Given the description of an element on the screen output the (x, y) to click on. 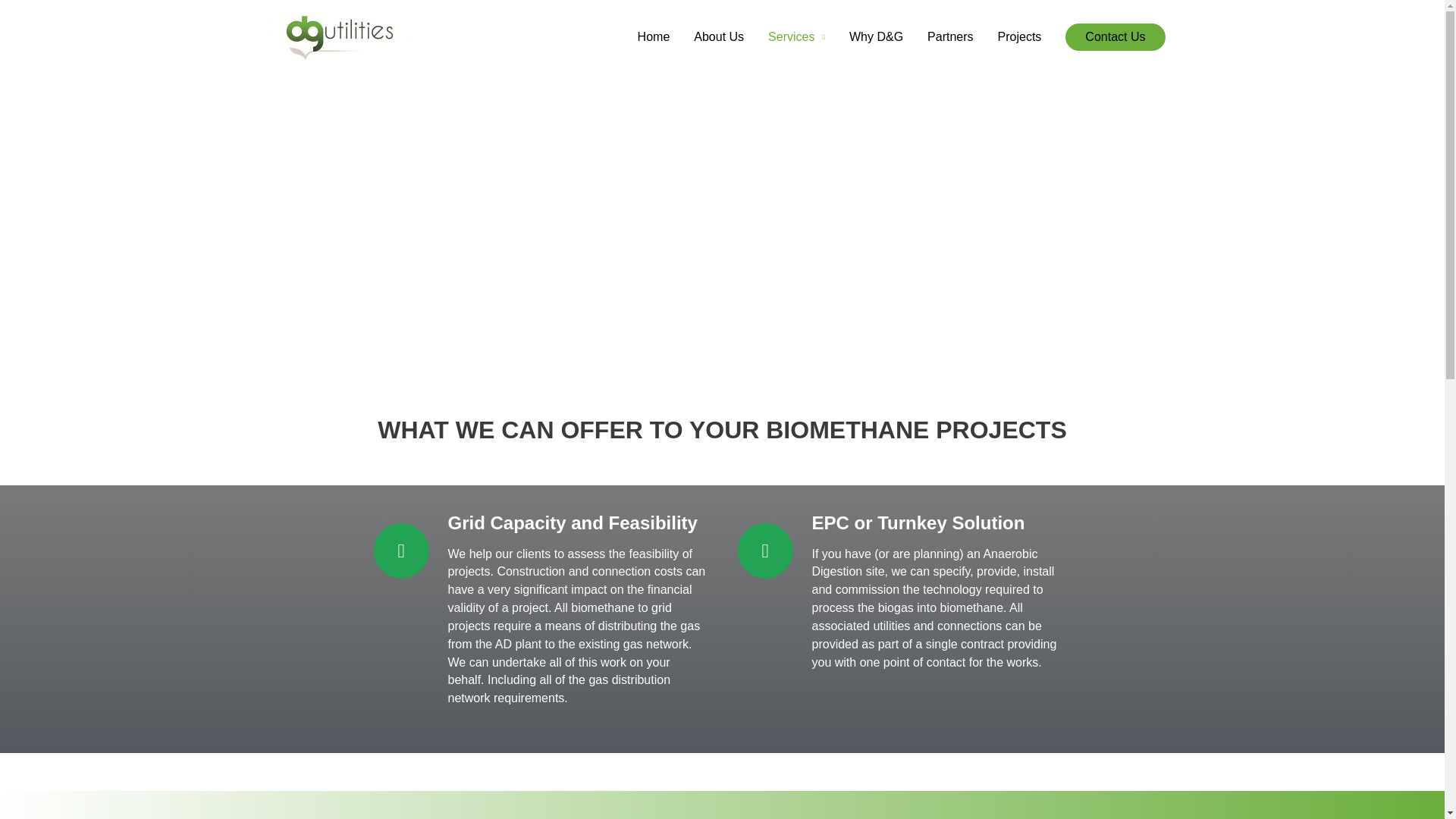
Home (654, 36)
Contact Us (1114, 35)
About Us (718, 36)
Partners (950, 36)
Services (796, 36)
Projects (1019, 36)
